Given the description of an element on the screen output the (x, y) to click on. 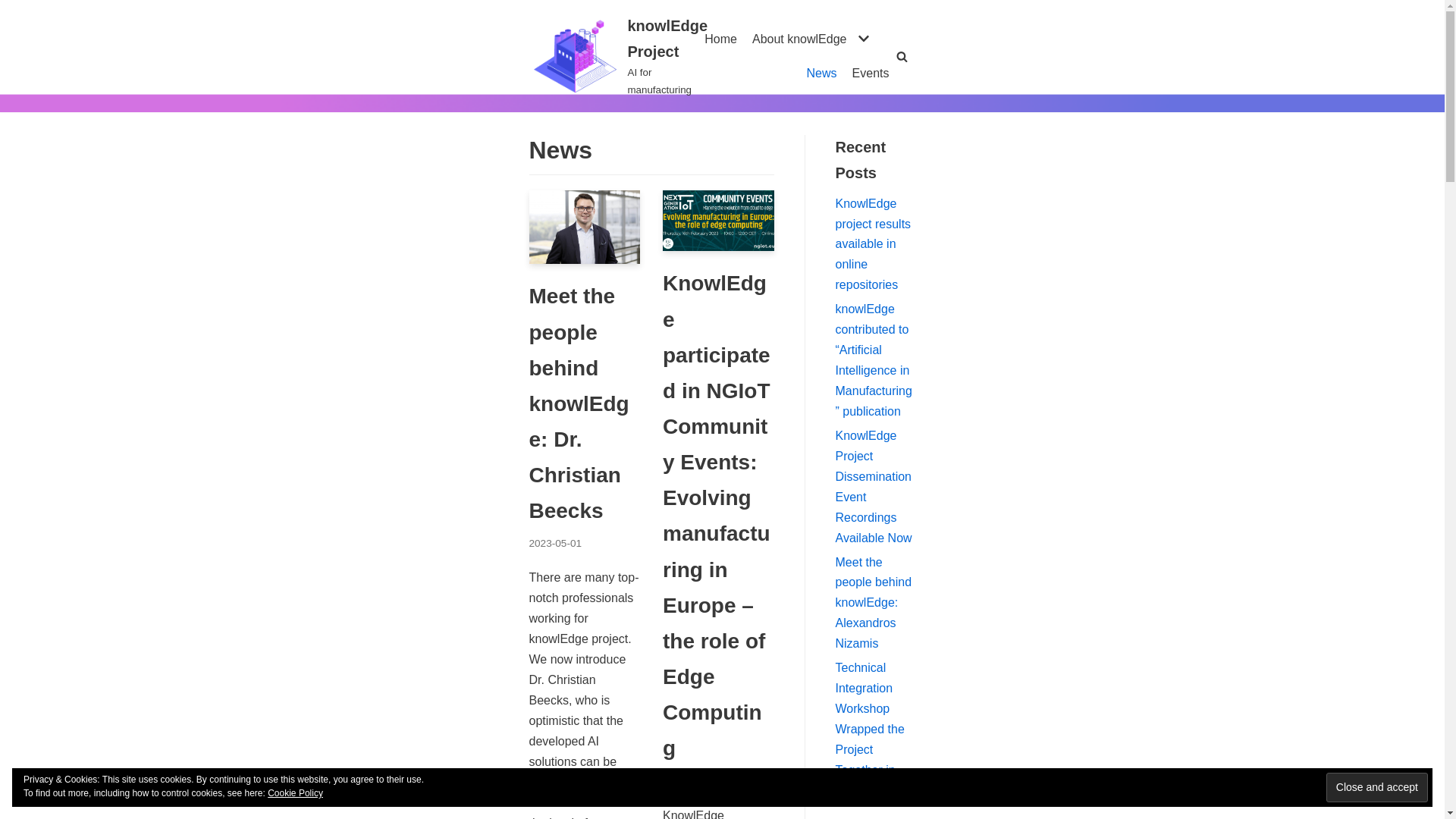
Meet the people behind knowlEdge: Dr. Christian Beecks (578, 403)
Skip to content (618, 55)
Navigation Menu (15, 7)
About knowlEdge (618, 55)
Home (813, 38)
Close and accept (720, 39)
Events (1377, 787)
News (870, 73)
Meet the people behind knowlEdge: Dr. Christian Beecks (821, 73)
